Given the description of an element on the screen output the (x, y) to click on. 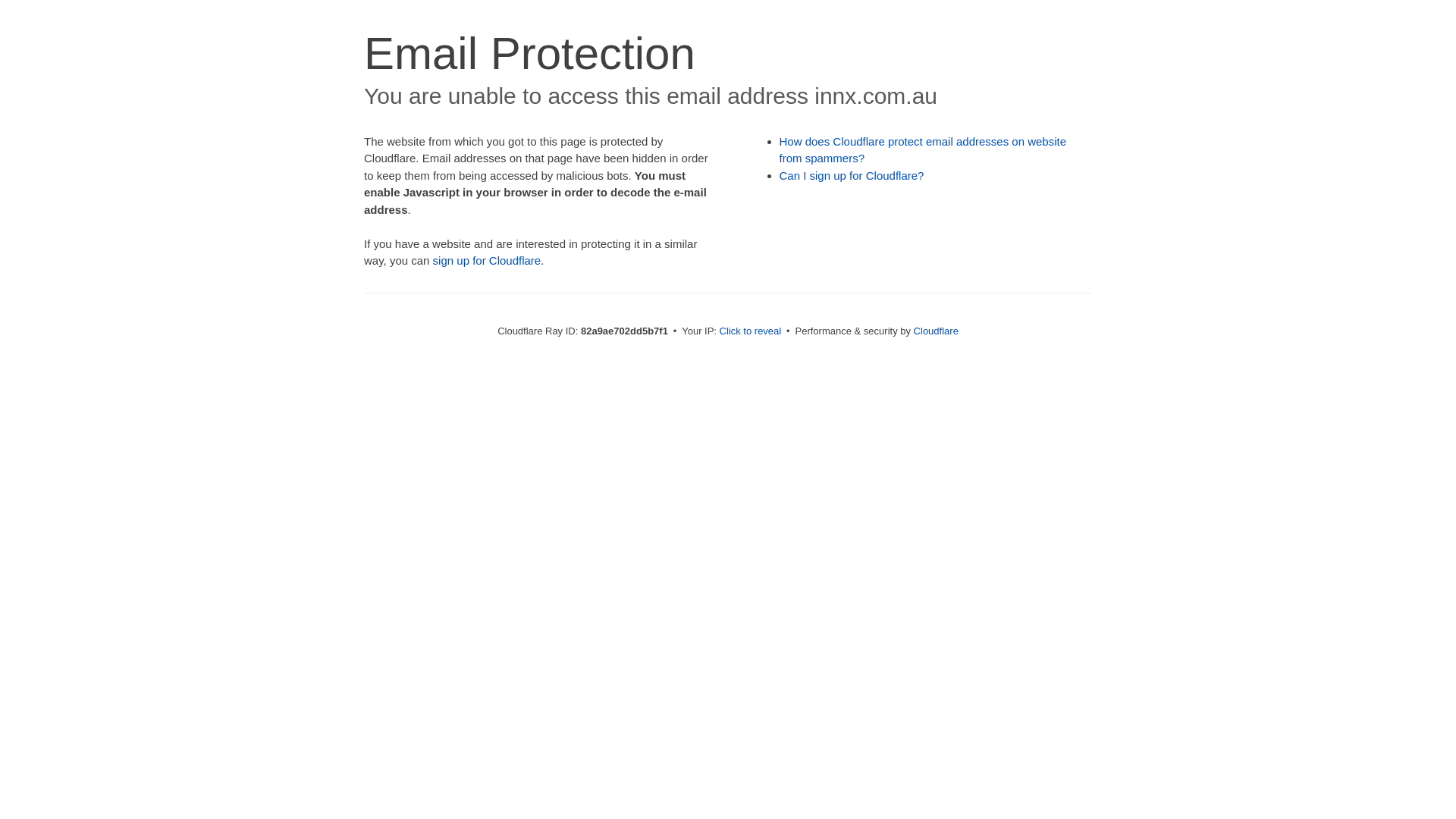
Click to reveal Element type: text (750, 330)
Cloudflare Element type: text (935, 330)
sign up for Cloudflare Element type: text (487, 260)
Can I sign up for Cloudflare? Element type: text (851, 175)
